Given the description of an element on the screen output the (x, y) to click on. 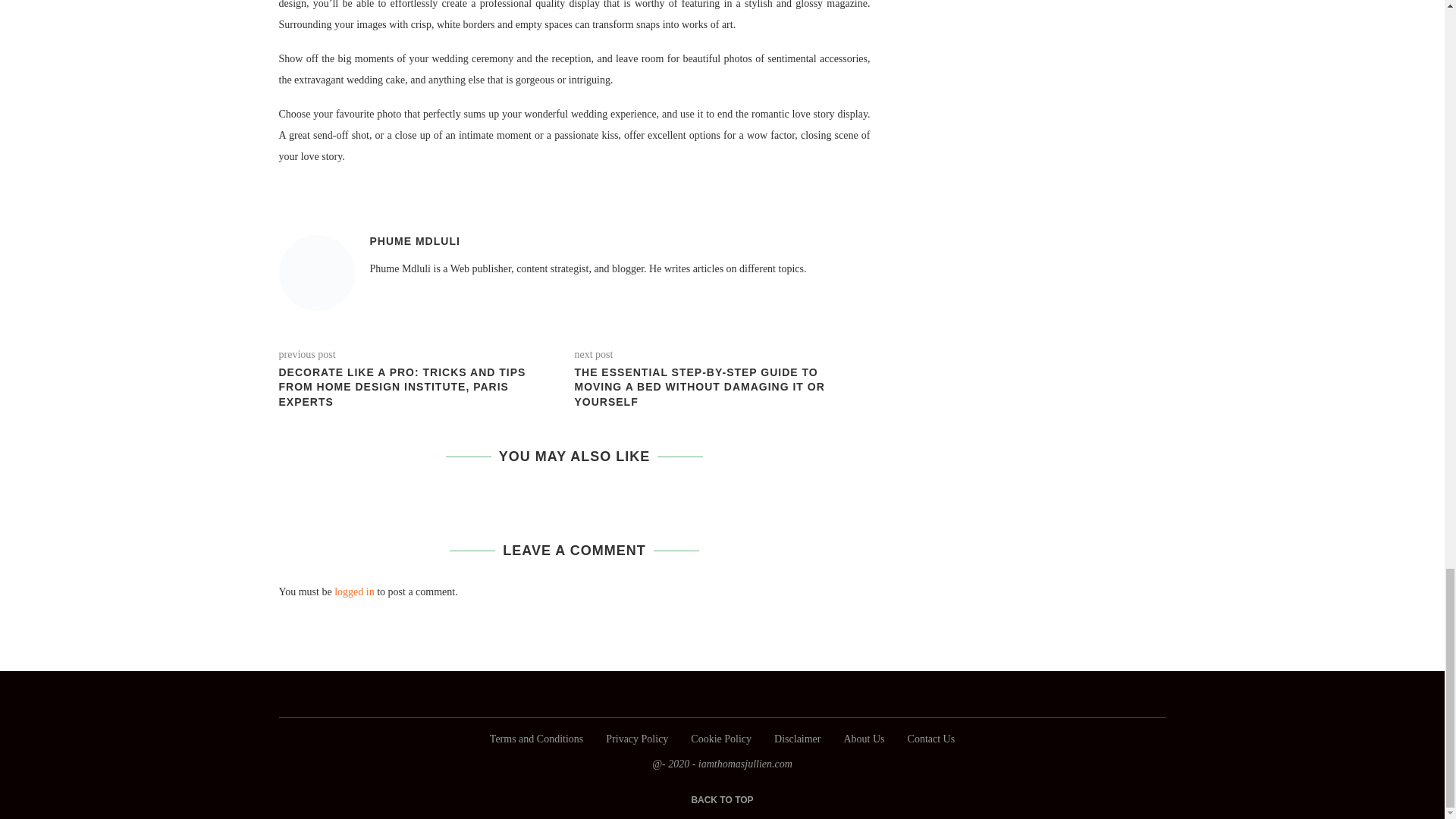
PHUME MDLULI (414, 241)
Author Phume Mdluli (414, 241)
